Given the description of an element on the screen output the (x, y) to click on. 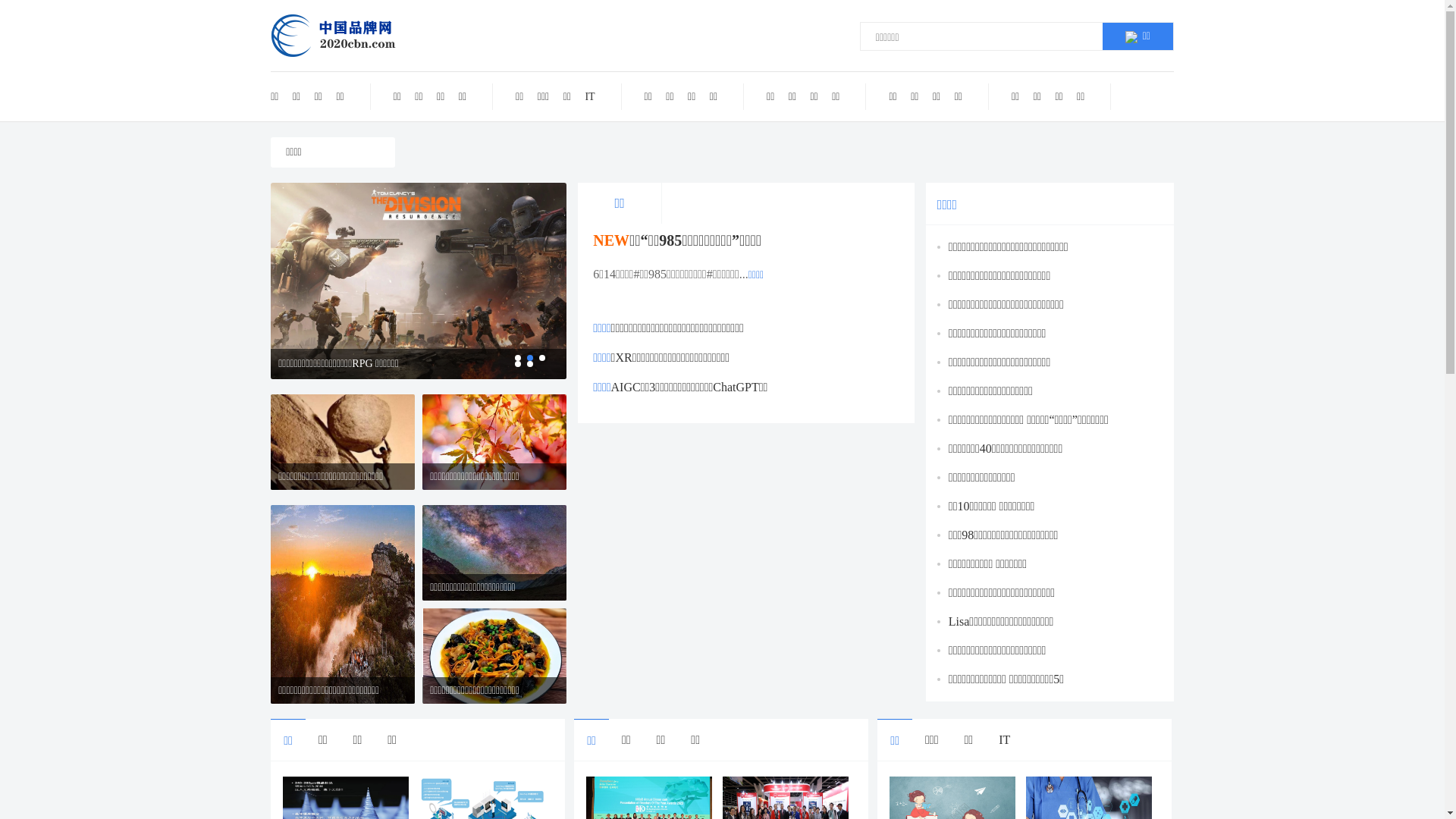
IT Element type: text (589, 96)
